Given the description of an element on the screen output the (x, y) to click on. 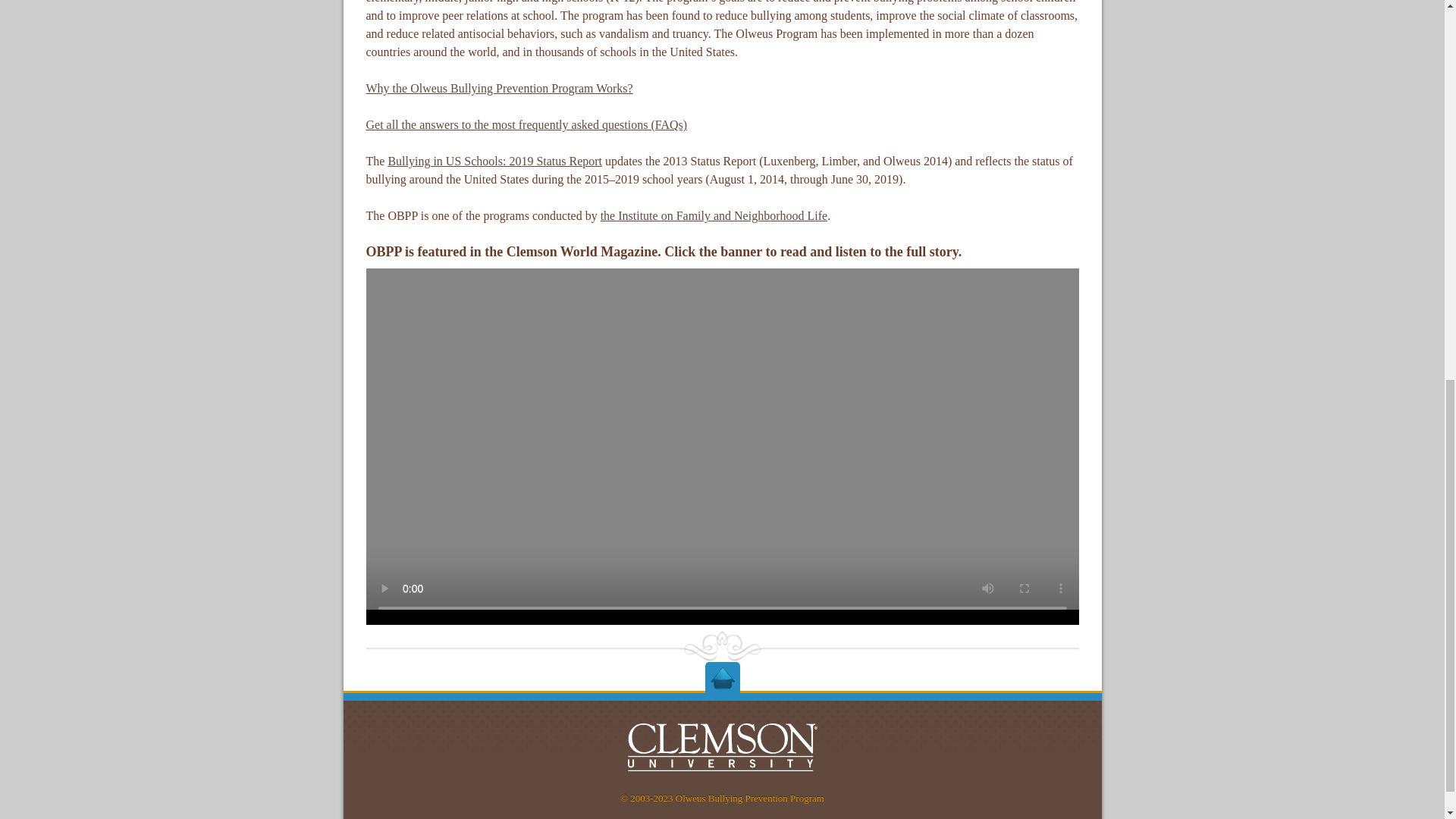
0 (721, 676)
